Given the description of an element on the screen output the (x, y) to click on. 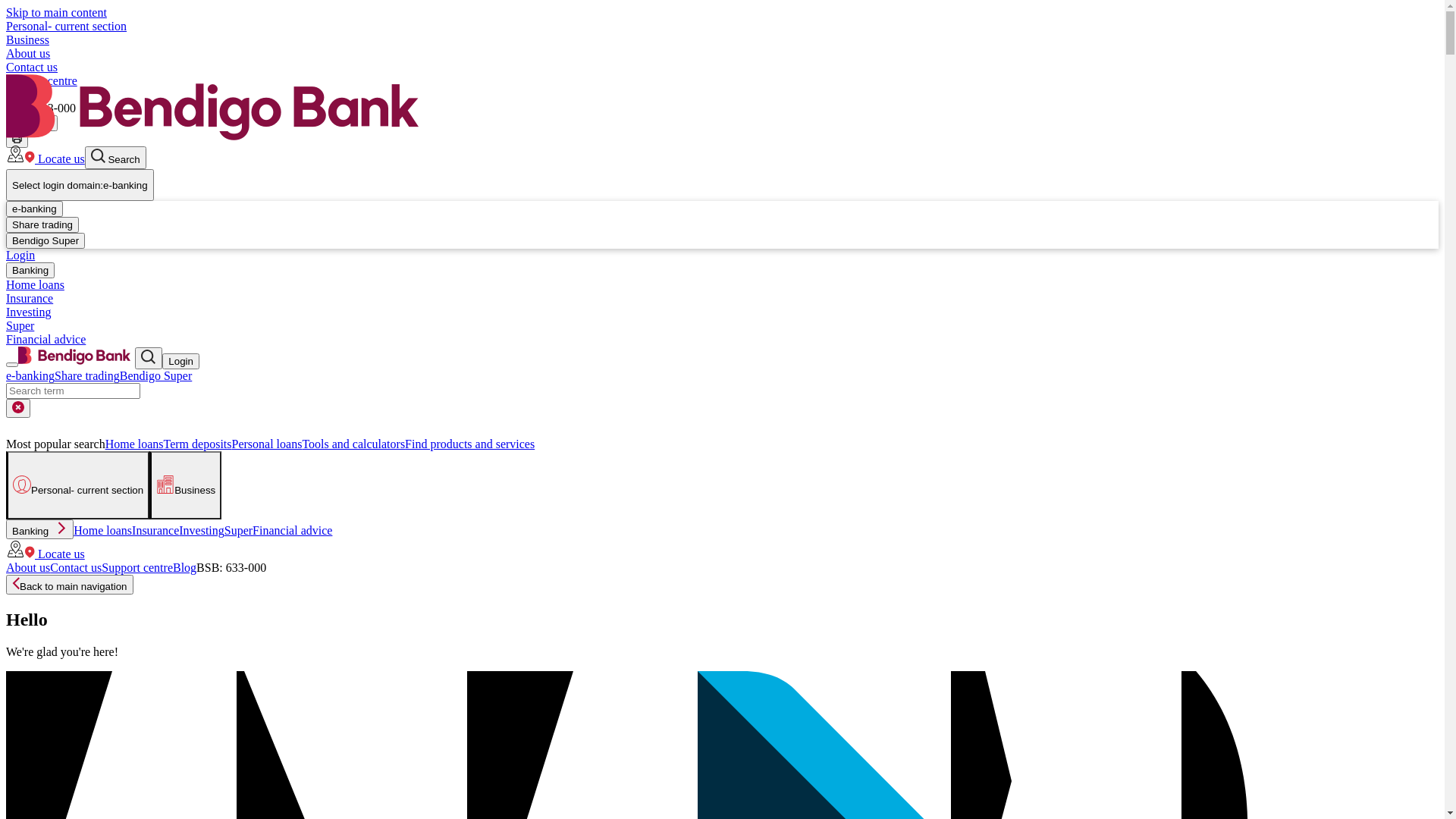
Financial advice Element type: text (45, 338)
Insurance Element type: text (29, 297)
Term deposits Element type: text (197, 443)
Tools and calculators Element type: text (352, 443)
Login Element type: text (20, 254)
Contact us Element type: text (31, 66)
Investing Element type: text (201, 530)
Home loans Element type: text (102, 530)
Locate us Element type: text (45, 158)
About us Element type: text (28, 53)
Share trading Element type: text (86, 375)
A - Element type: text (18, 123)
Bendigo Super Element type: text (155, 375)
Contact us Element type: text (75, 567)
Personal- current section Element type: text (66, 25)
Back to main navigation Element type: text (69, 584)
A + Element type: text (43, 123)
Share trading Element type: text (42, 224)
Personal- current section Element type: text (77, 485)
Support centre Element type: text (136, 567)
Business Element type: text (185, 485)
About us Element type: text (28, 567)
Investing Element type: text (28, 311)
Banking Element type: text (30, 270)
Home loans Element type: text (134, 443)
Personal loans Element type: text (267, 443)
e-banking Element type: text (30, 375)
Bendigo Super Element type: text (45, 240)
Find products and services Element type: text (469, 443)
Select login domain:e-banking Element type: text (79, 184)
Banking Element type: text (39, 529)
Blog Element type: text (184, 567)
Skip to main content Element type: text (56, 12)
Locate us Element type: text (45, 553)
Search Element type: text (115, 157)
Support centre Element type: text (41, 80)
Super Element type: text (20, 325)
Blog Element type: text (17, 93)
e-banking Element type: text (34, 208)
Business Element type: text (27, 39)
Login Element type: text (180, 361)
Home loans Element type: text (35, 284)
Insurance Element type: text (154, 530)
Print Element type: hover (17, 139)
Super Element type: text (238, 530)
Financial advice Element type: text (292, 530)
